Given the description of an element on the screen output the (x, y) to click on. 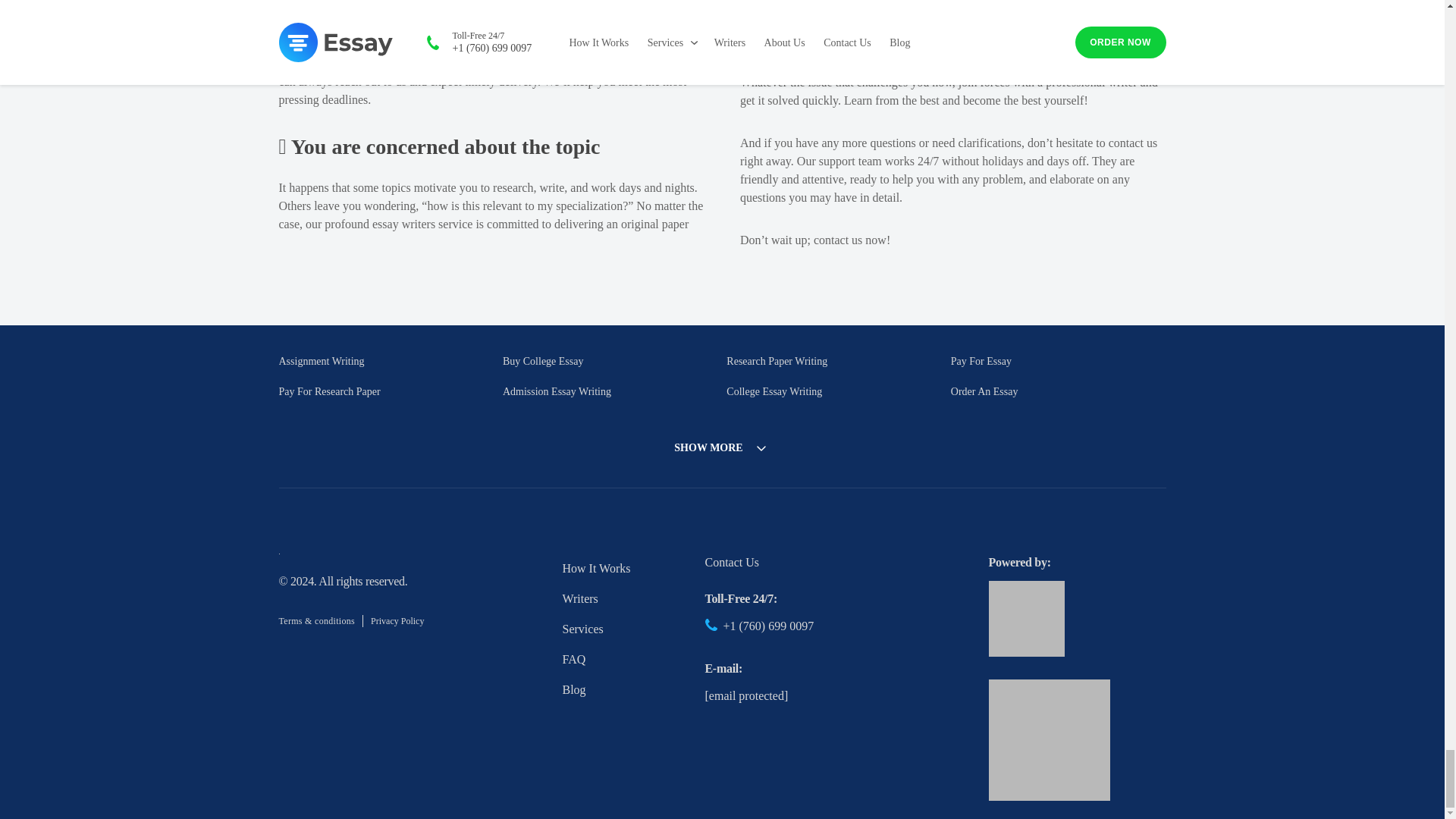
College Essay Writing (774, 391)
Pay For Essay (980, 360)
Buy College Essay (542, 360)
Admission Essay Writing (556, 391)
Assignment Writing (322, 360)
Order An Essay (983, 391)
Research Paper Writing (776, 360)
Pay For Research Paper (329, 391)
